Given the description of an element on the screen output the (x, y) to click on. 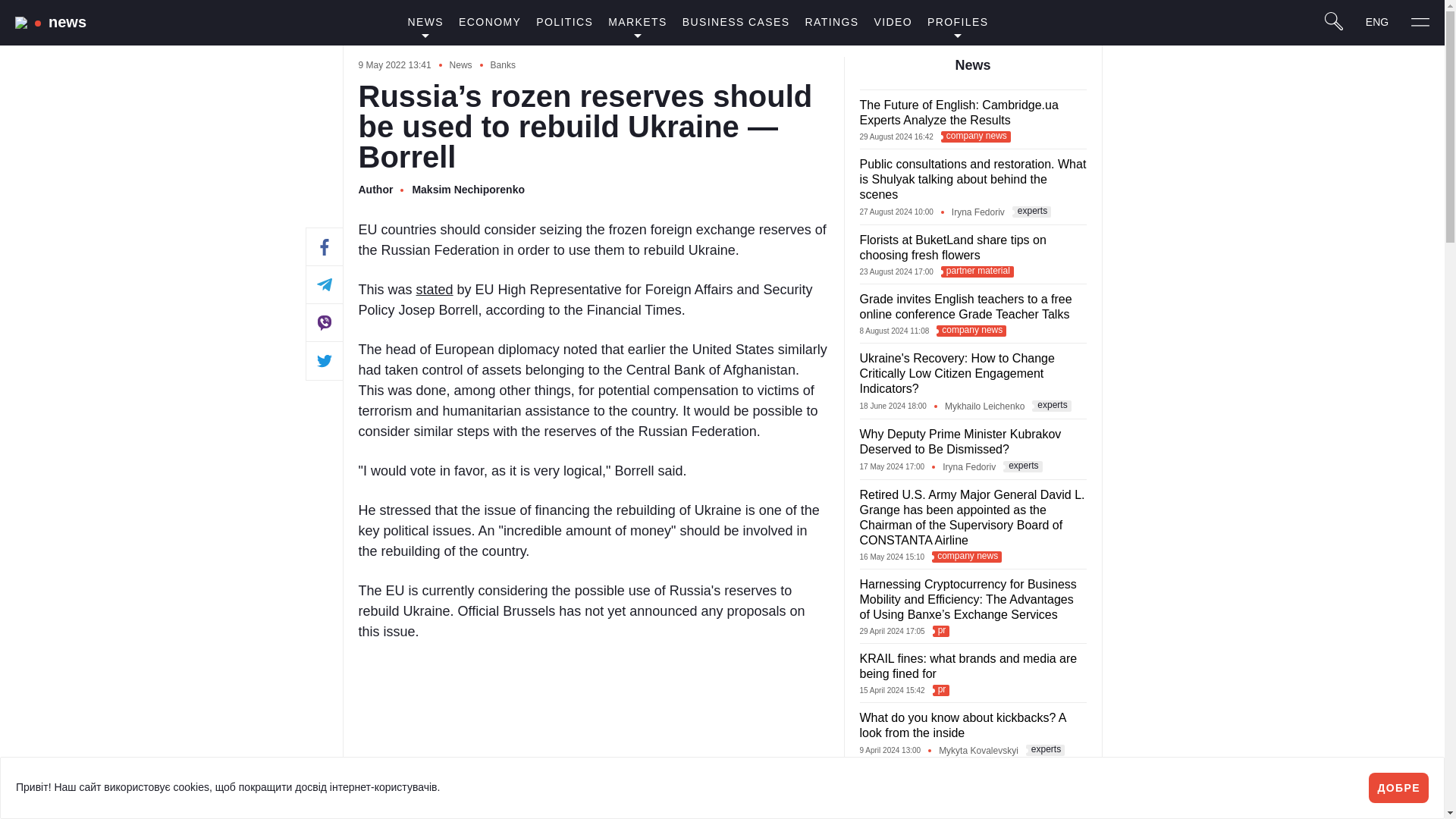
RATINGS (831, 22)
news (66, 21)
NEWS (425, 22)
PROFILES (957, 22)
VIDEO (893, 22)
BUSINESS CASES (736, 22)
POLITICS (563, 22)
ECONOMY (489, 22)
